Given the description of an element on the screen output the (x, y) to click on. 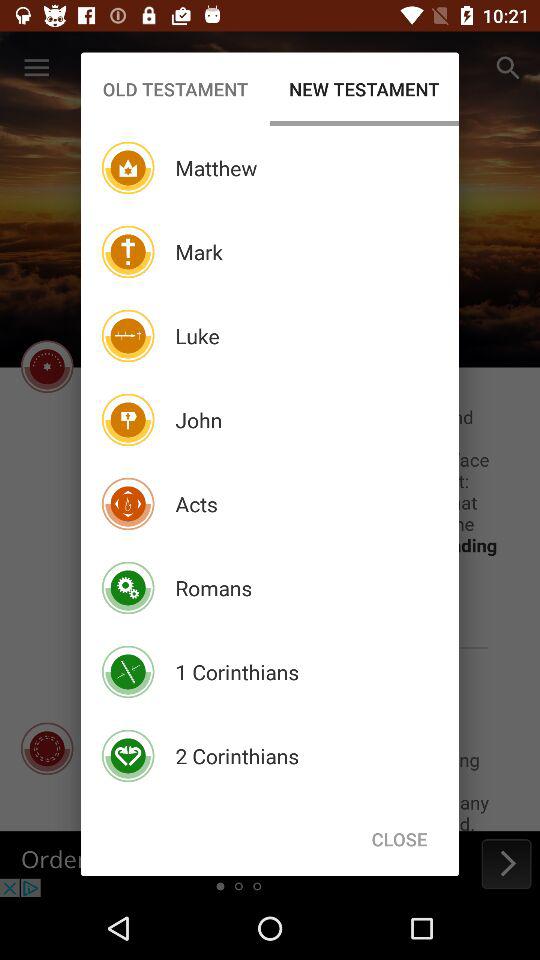
swipe to matthew icon (216, 167)
